Given the description of an element on the screen output the (x, y) to click on. 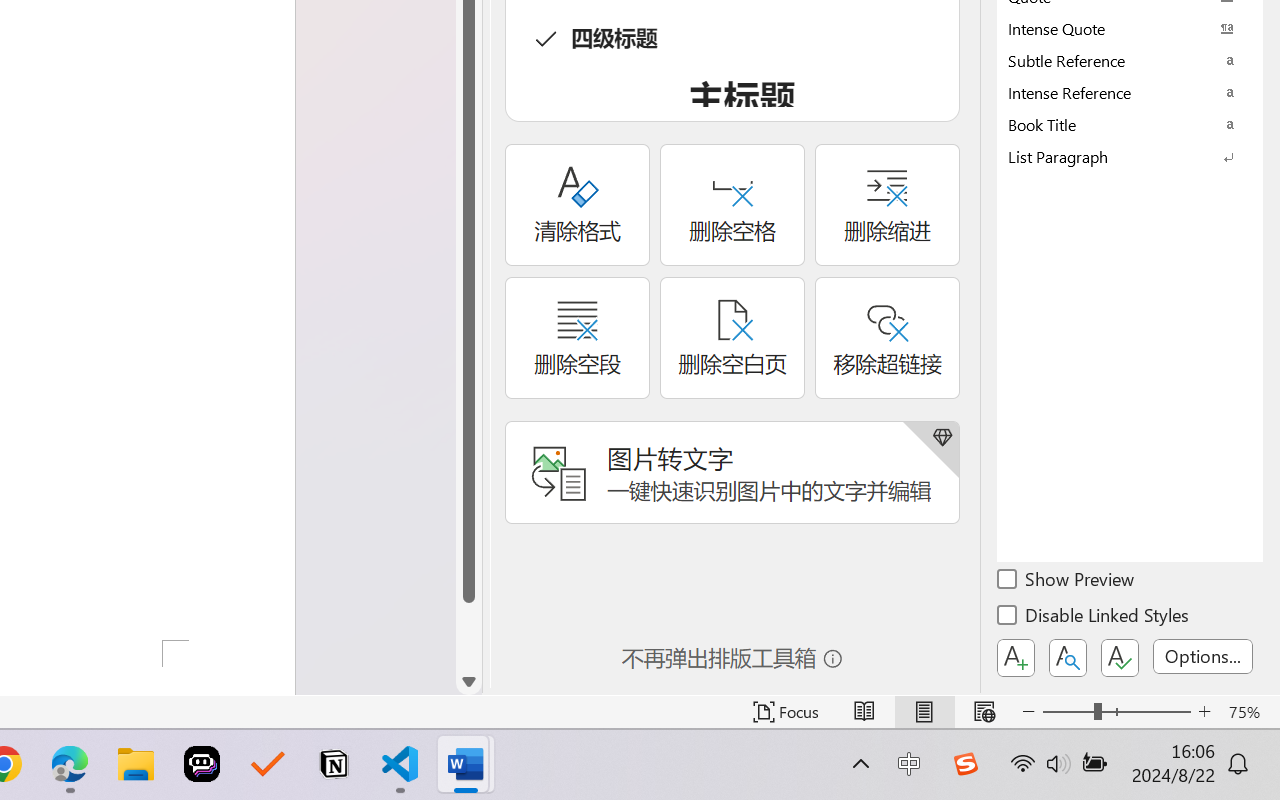
Read Mode (864, 712)
Options... (1203, 656)
Intense Reference (1130, 92)
Book Title (1130, 124)
